Given the description of an element on the screen output the (x, y) to click on. 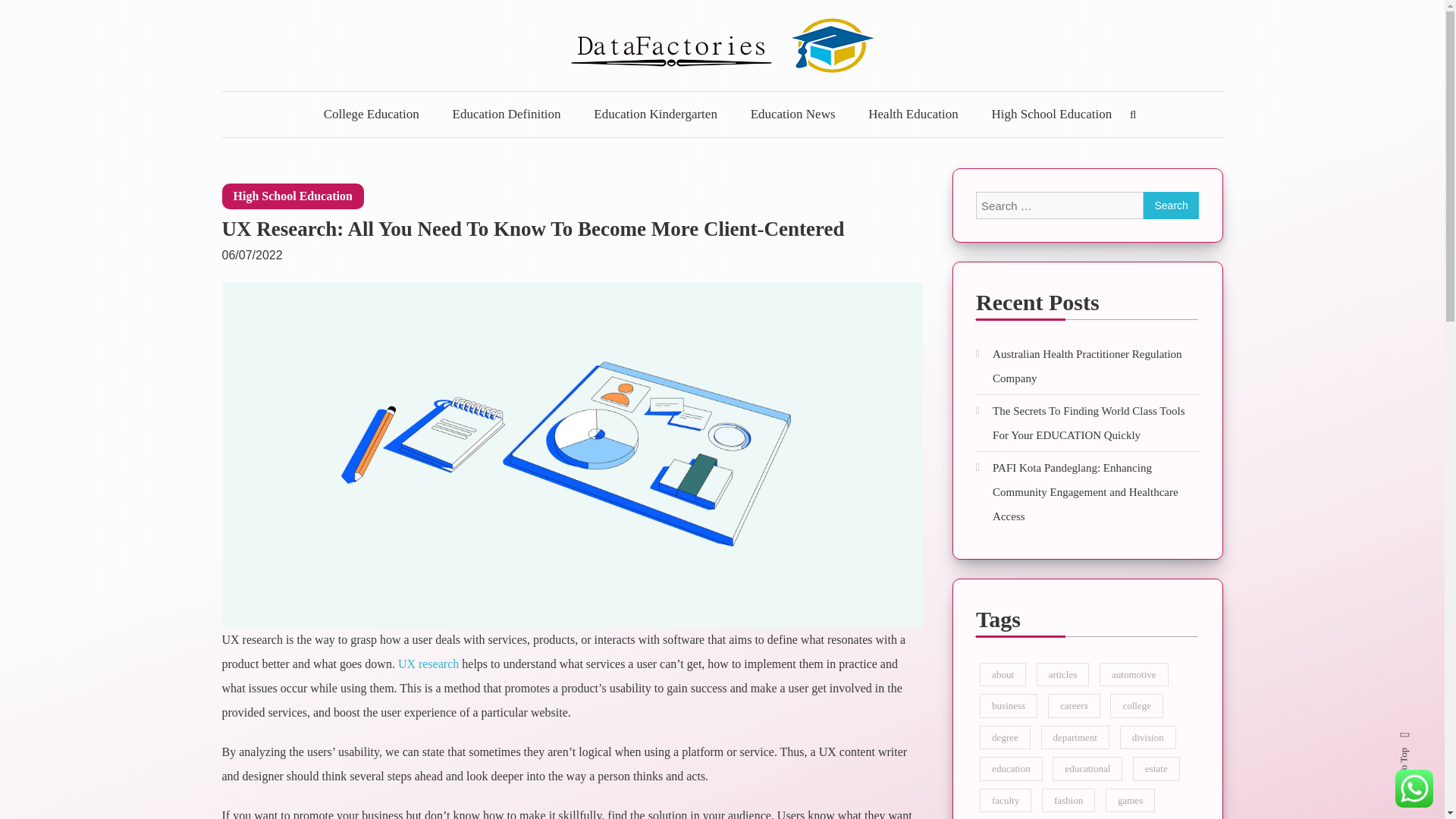
about (1002, 674)
Health Education (913, 114)
faculty (1004, 800)
Search (1170, 205)
Search (768, 432)
careers (1074, 705)
DF (247, 100)
college (1136, 705)
UX research (426, 663)
Australian Health Practitioner Regulation Company (1086, 366)
department (1074, 737)
College Education (370, 114)
estate (1155, 768)
